Given the description of an element on the screen output the (x, y) to click on. 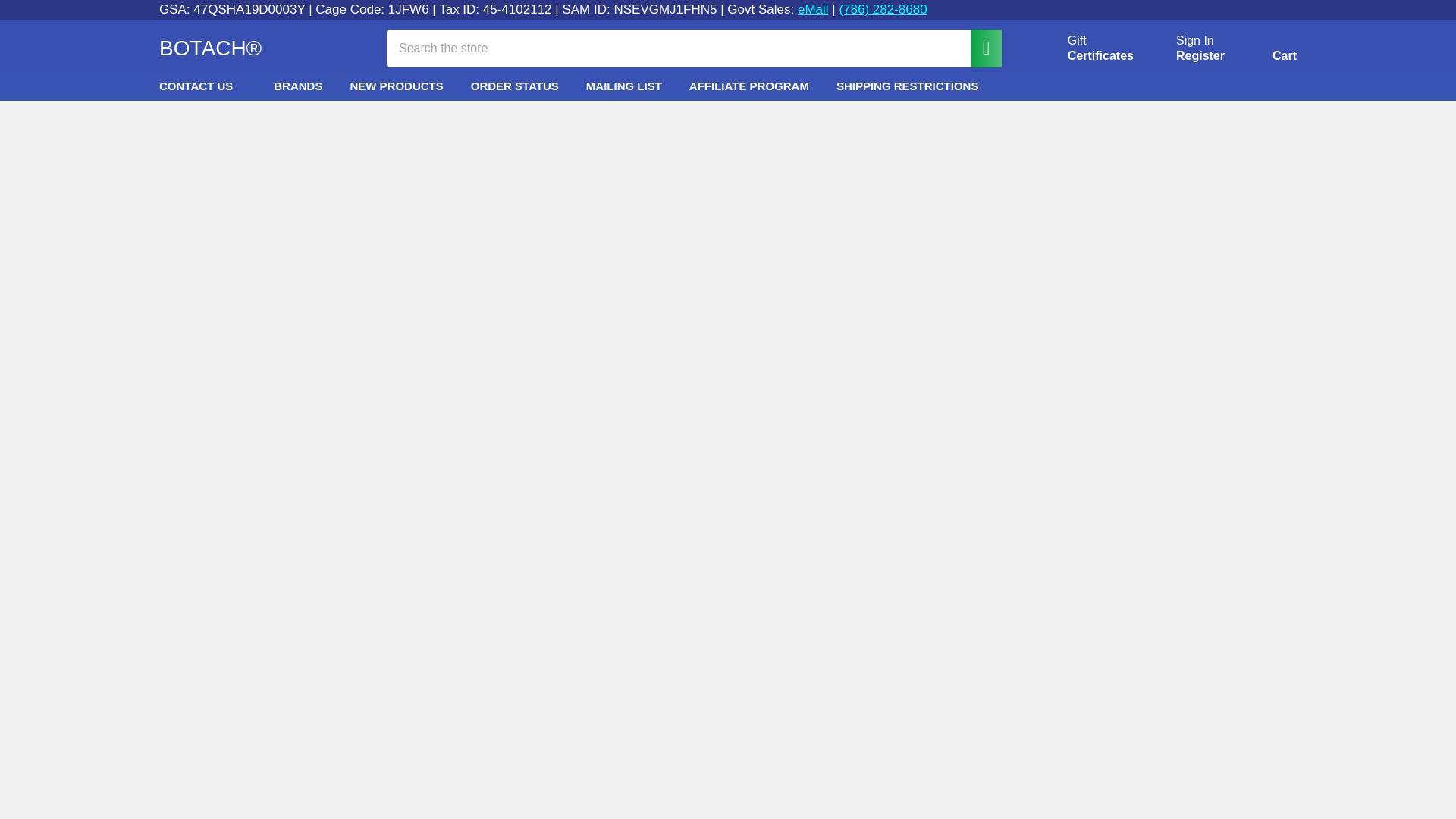
Cart (1266, 51)
Search (978, 47)
Cart (1266, 51)
Gift Certificates (1083, 48)
eMail (812, 9)
Sign In (1195, 40)
Register (1200, 55)
Search (1083, 48)
